Given the description of an element on the screen output the (x, y) to click on. 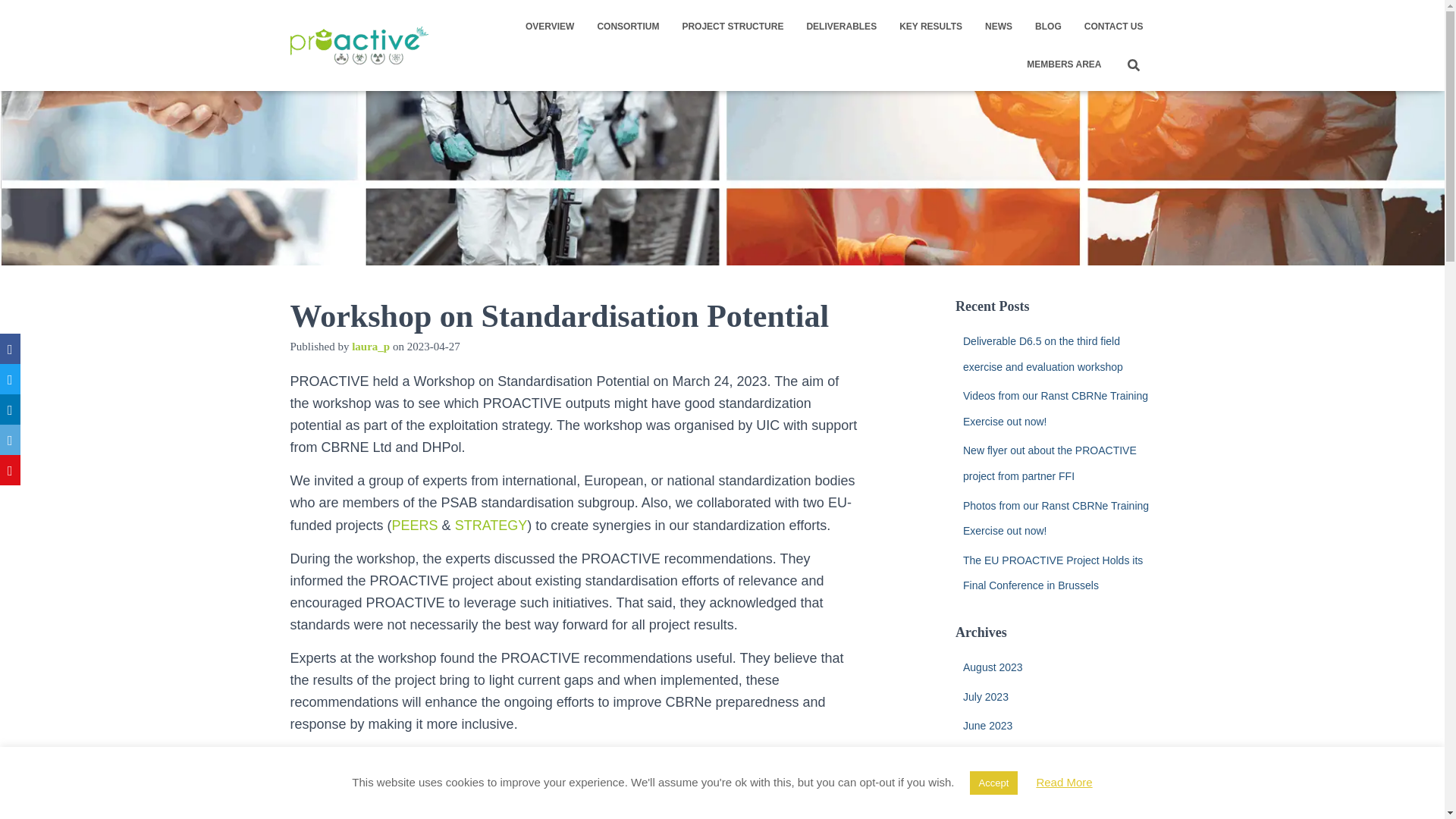
June 2023 (986, 725)
NEWS (998, 26)
MEMBERS AREA (1063, 64)
BLOG (1048, 26)
OVERVIEW (549, 26)
July 2023 (985, 696)
August 2023 (992, 666)
March 2023 (990, 813)
Consortium (627, 26)
CONTACT US (1113, 26)
Contact us (1113, 26)
April 2023 (986, 784)
Videos from our Ranst CBRNe Training Exercise out now! (1055, 408)
CONSORTIUM (627, 26)
